Given the description of an element on the screen output the (x, y) to click on. 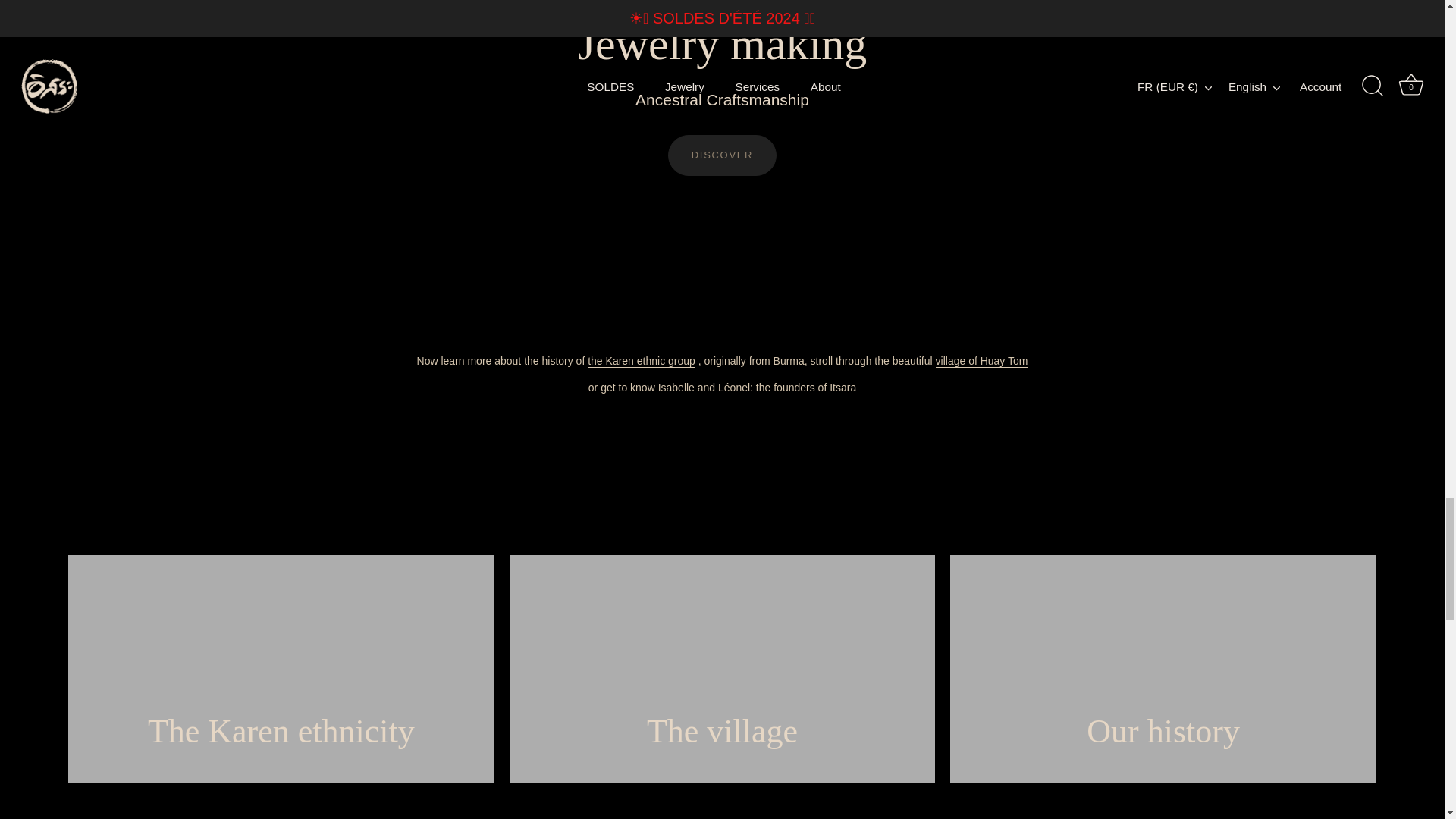
The Village of Craftsmen (981, 360)
Our history (814, 387)
The Karen Ethnicity (641, 360)
